Given the description of an element on the screen output the (x, y) to click on. 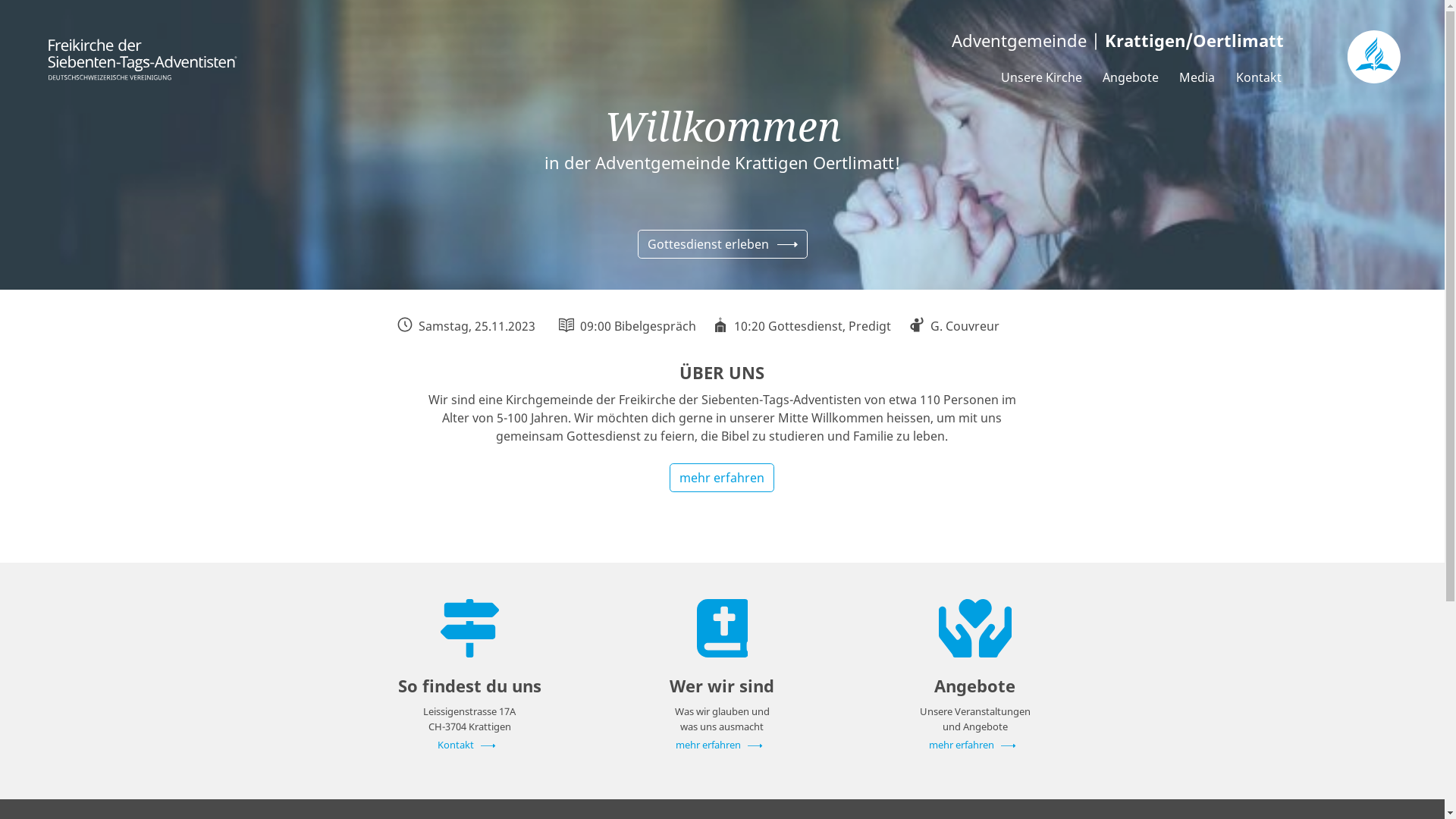
Gottesdienst erleben Element type: text (721, 243)
Adventgemeinde | Element type: text (793, 40)
mehr erfahren Element type: text (721, 477)
Angebote Element type: text (1130, 77)
Kontakt Element type: text (1258, 77)
Unsere Kirche Element type: text (1041, 77)
Kontakt Element type: text (469, 745)
mehr erfahren Element type: text (721, 745)
mehr erfahren Element type: text (975, 745)
Media Element type: text (1196, 77)
